Given the description of an element on the screen output the (x, y) to click on. 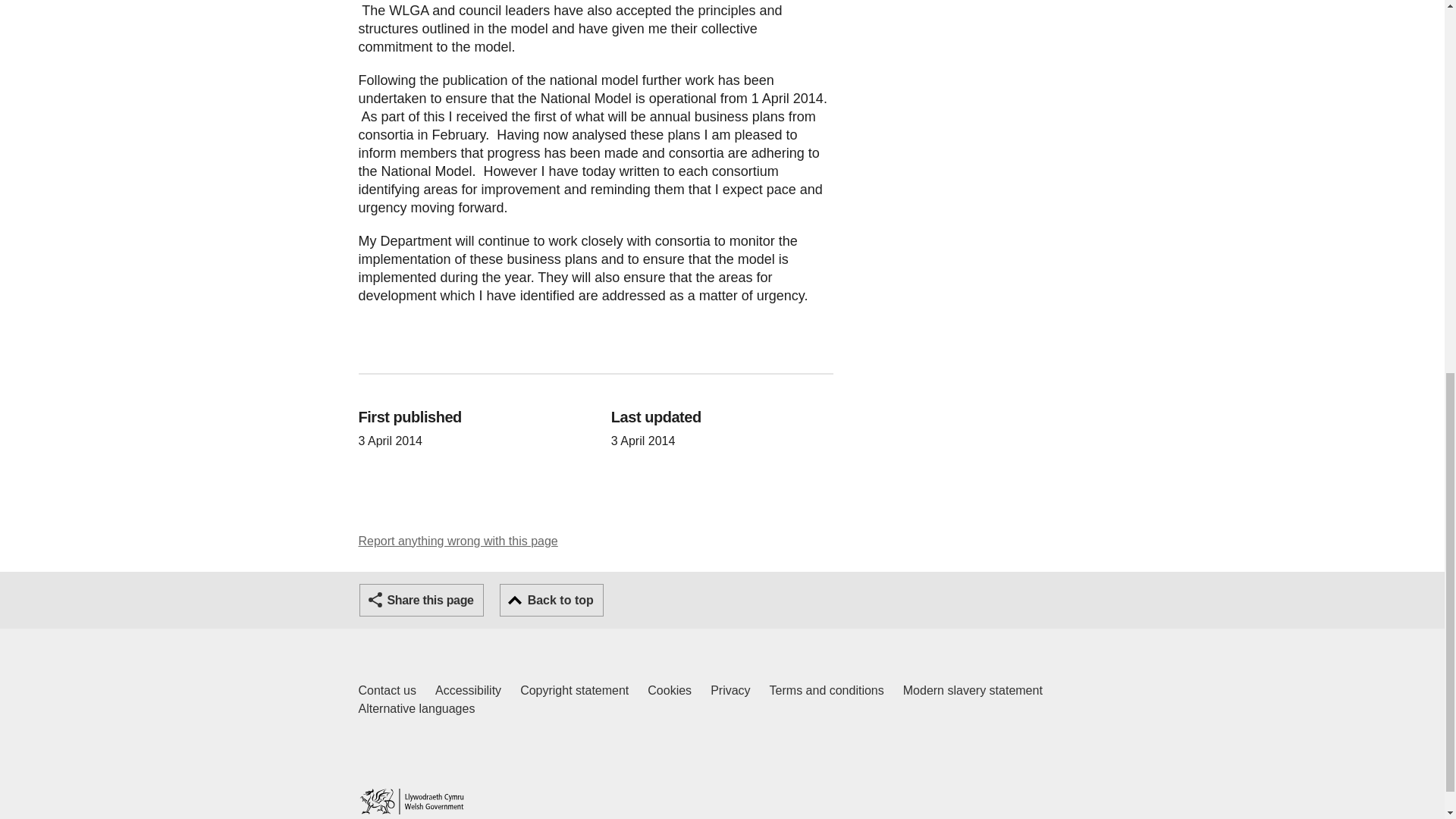
Accessibility (467, 690)
Modern slavery statement (972, 690)
Cookies (669, 690)
Alternative languages (416, 709)
Share this page (421, 599)
Copyright statement (386, 690)
Report anything wrong with this page (573, 690)
Home (457, 540)
Terms and conditions (411, 801)
